Given the description of an element on the screen output the (x, y) to click on. 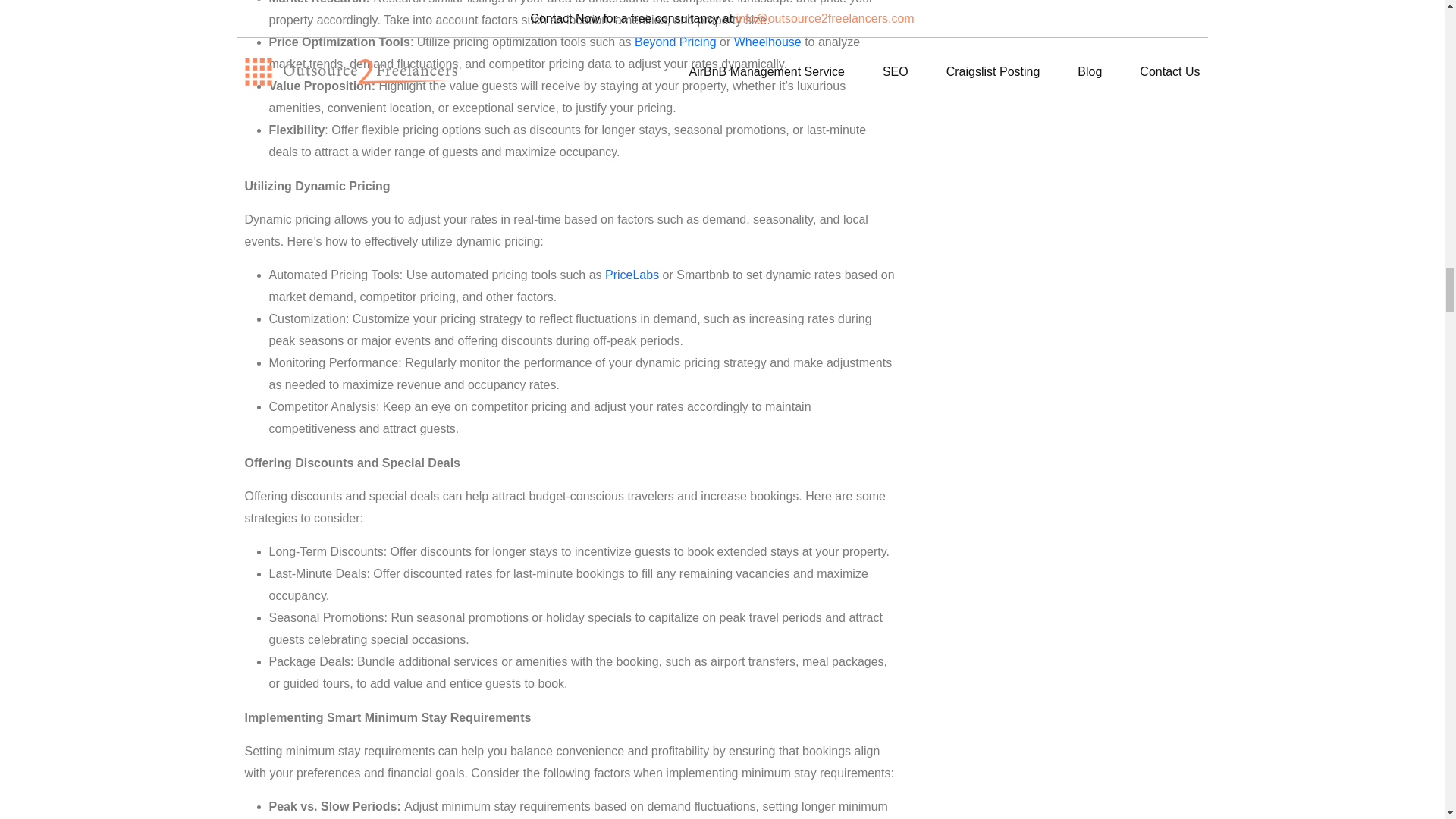
Wheelhouse (767, 42)
PriceLabs (632, 274)
Beyond Pricing (675, 42)
